Given the description of an element on the screen output the (x, y) to click on. 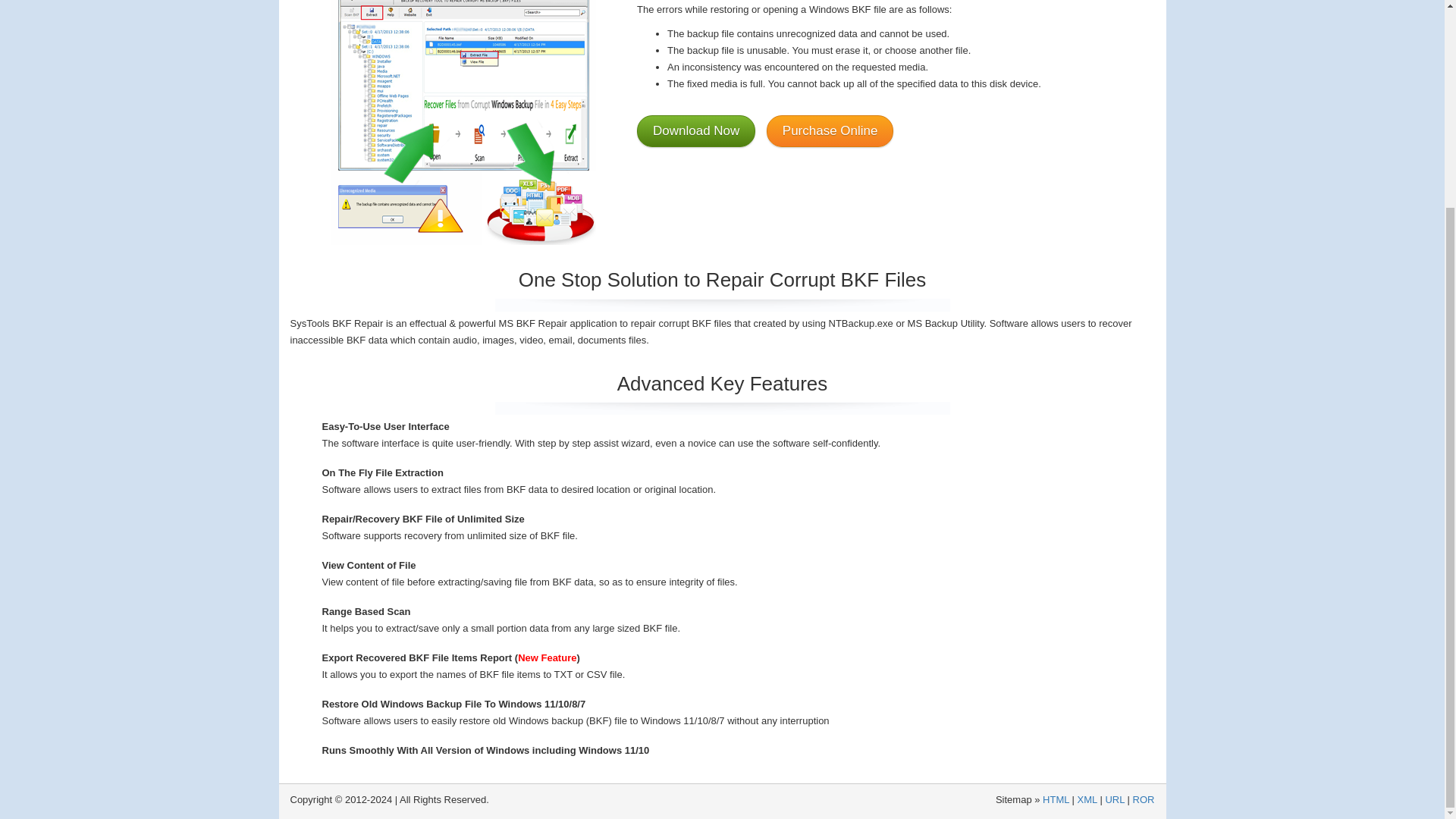
URL (1114, 799)
XML (1087, 799)
HTML (1055, 799)
Download Now (695, 130)
ROR (1143, 799)
Purchase Online (830, 130)
